Given the description of an element on the screen output the (x, y) to click on. 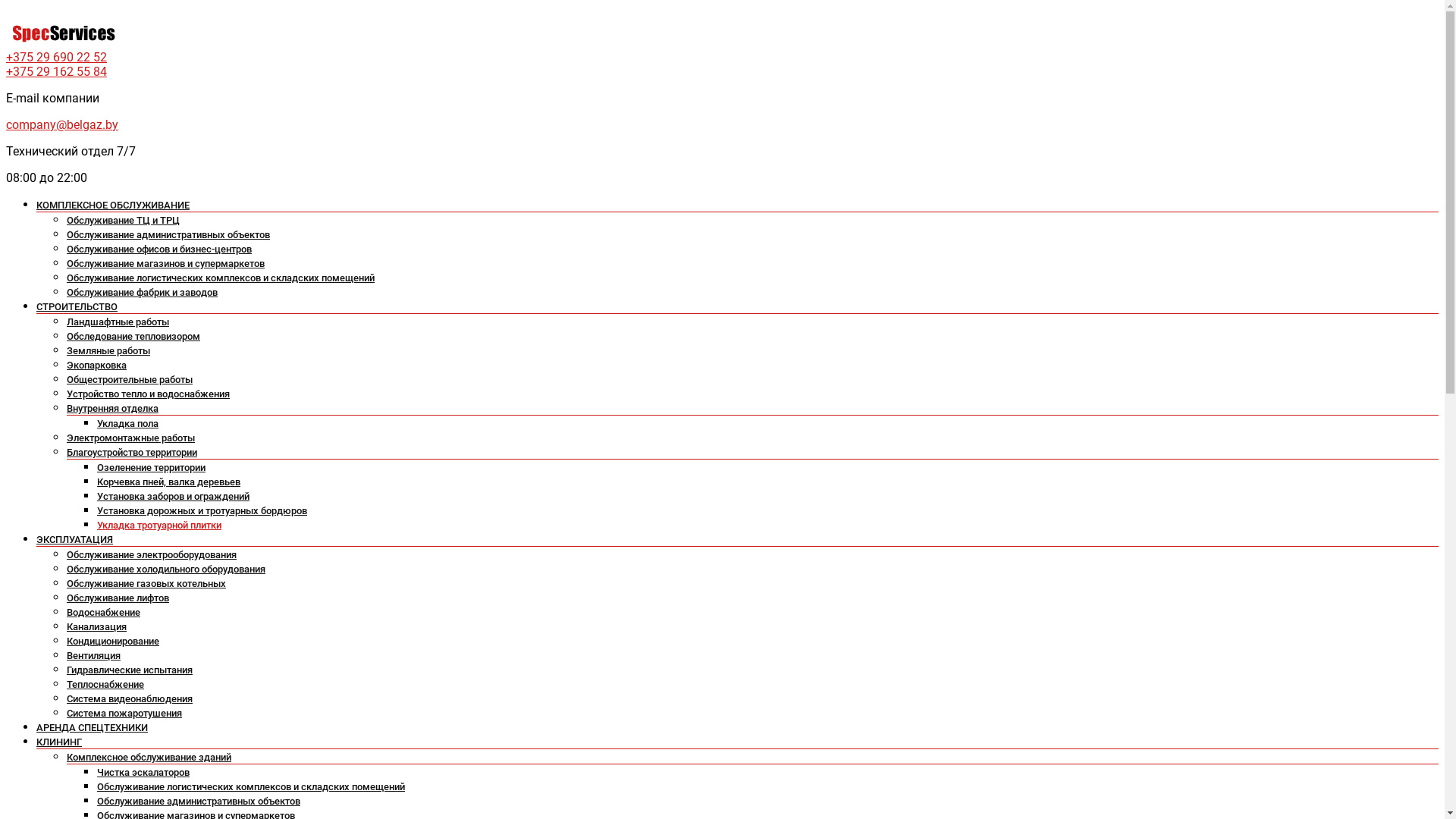
+375 29 690 22 52 Element type: text (56, 57)
company@belgaz.by Element type: text (62, 124)
+375 29 162 55 84 Element type: text (56, 71)
